Given the description of an element on the screen output the (x, y) to click on. 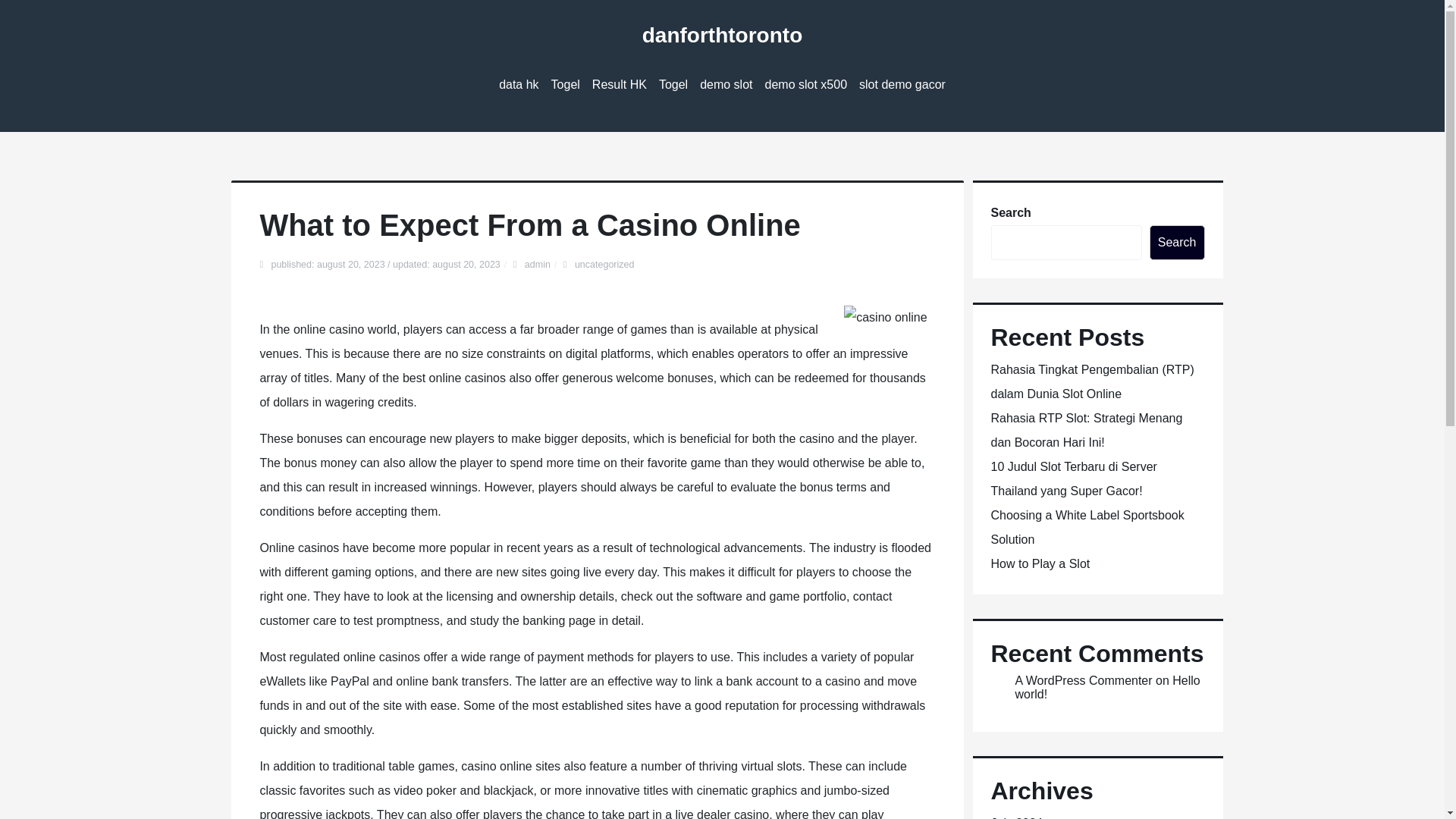
demo slot (726, 84)
Togel (673, 84)
demo slot (726, 84)
demo slot x500 (805, 84)
Togel (565, 84)
10 Judul Slot Terbaru di Server Thailand yang Super Gacor! (1073, 478)
slot demo gacor (902, 84)
Togel (673, 84)
How to Play a Slot (1039, 563)
admin (537, 264)
Hello world! (1106, 687)
demo slot x500 (805, 84)
data hk (518, 84)
Search (1177, 242)
data hk (518, 84)
